Given the description of an element on the screen output the (x, y) to click on. 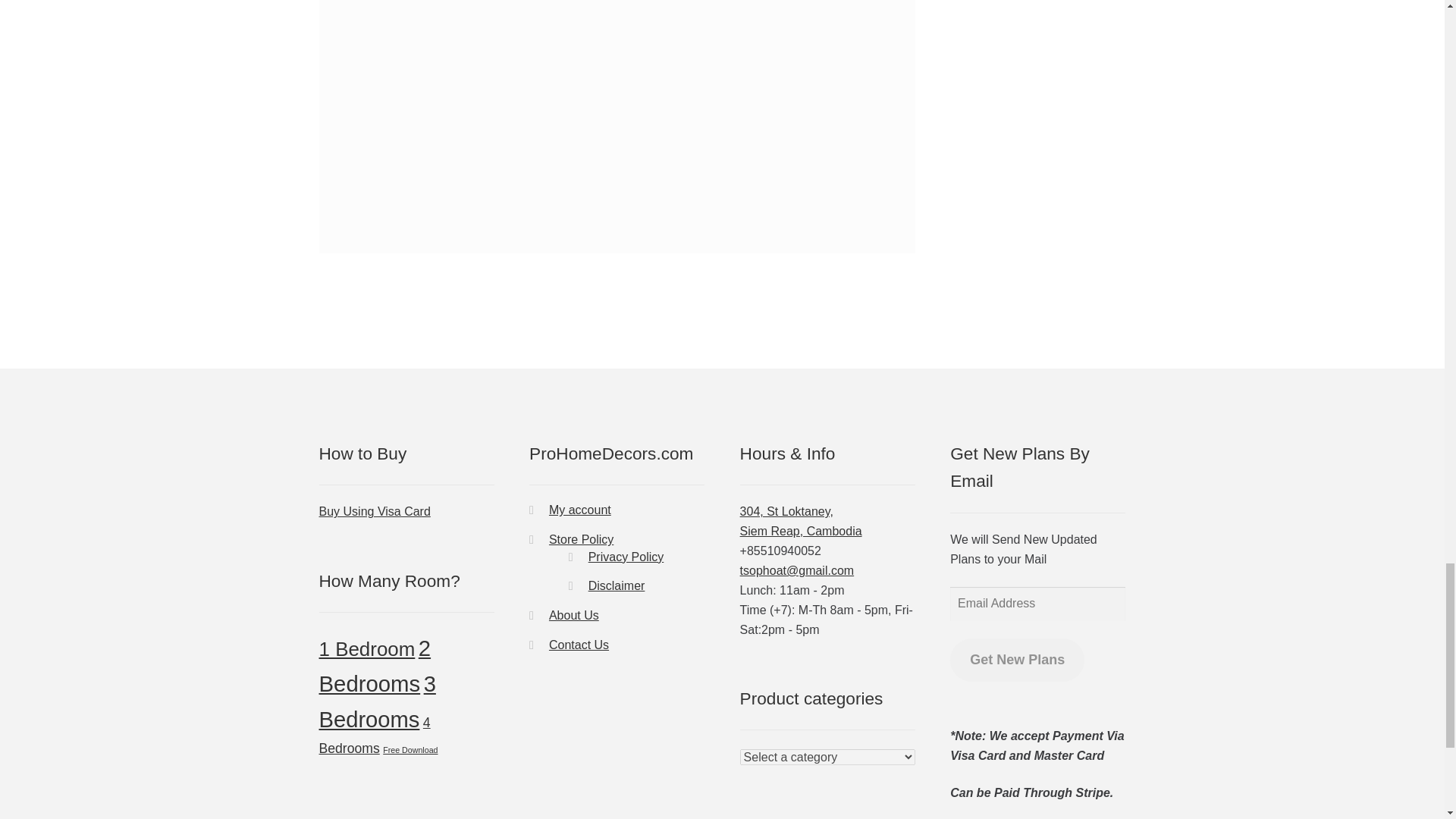
Comment Form (616, 108)
